Given the description of an element on the screen output the (x, y) to click on. 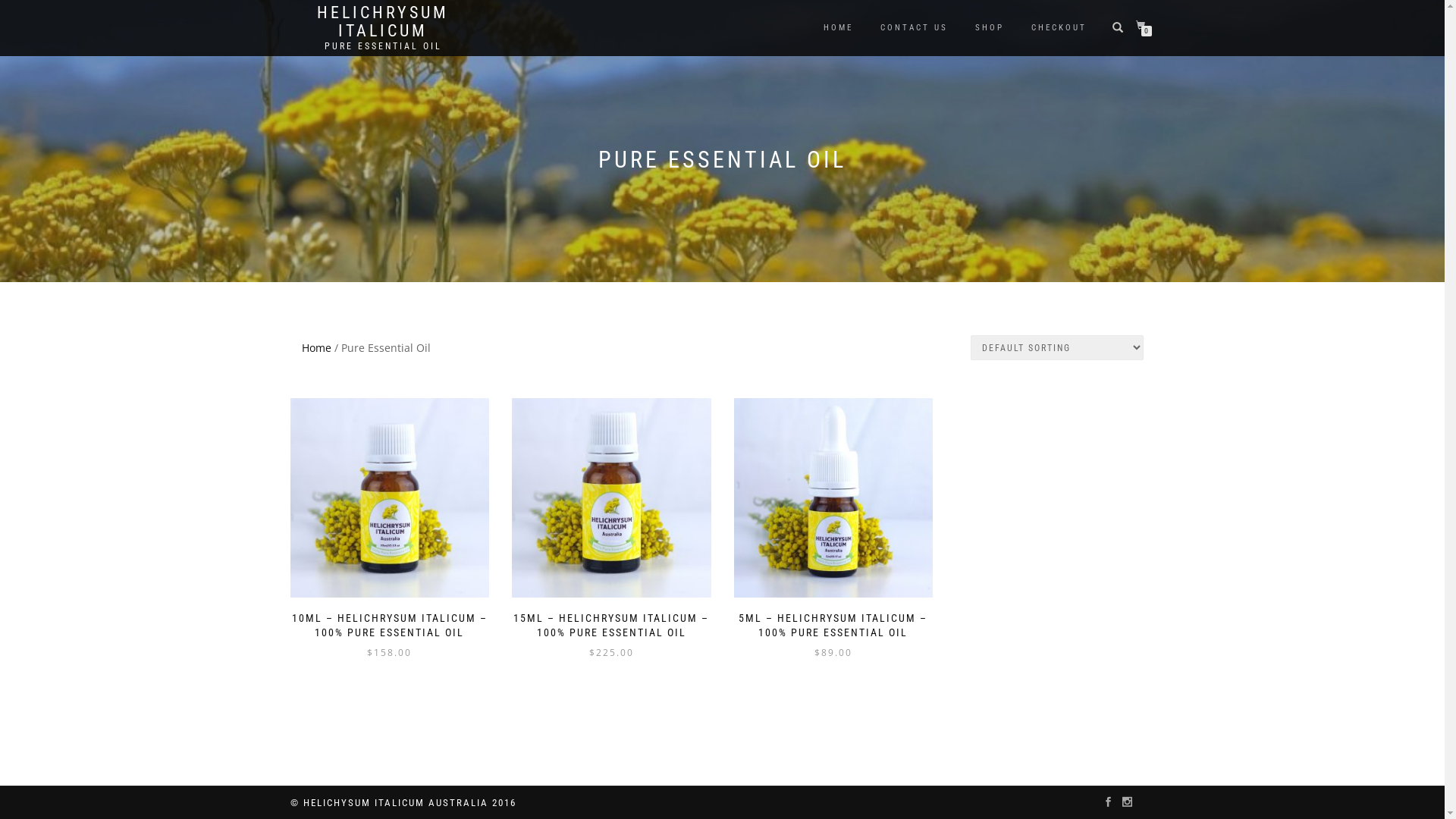
Home Element type: text (316, 347)
PURE ESSENTIAL OIL Element type: text (382, 46)
CONTACT US Element type: text (914, 27)
HELICHRYSUM ITALICUM Element type: text (382, 21)
CHECKOUT Element type: text (1058, 27)
HOME Element type: text (837, 27)
SHOP Element type: text (988, 27)
Product image 10ml 2 Element type: hover (389, 497)
Product image 15ml 2 Element type: hover (611, 497)
0 Element type: text (1143, 26)
product image 5m 2 Element type: hover (833, 497)
